Given the description of an element on the screen output the (x, y) to click on. 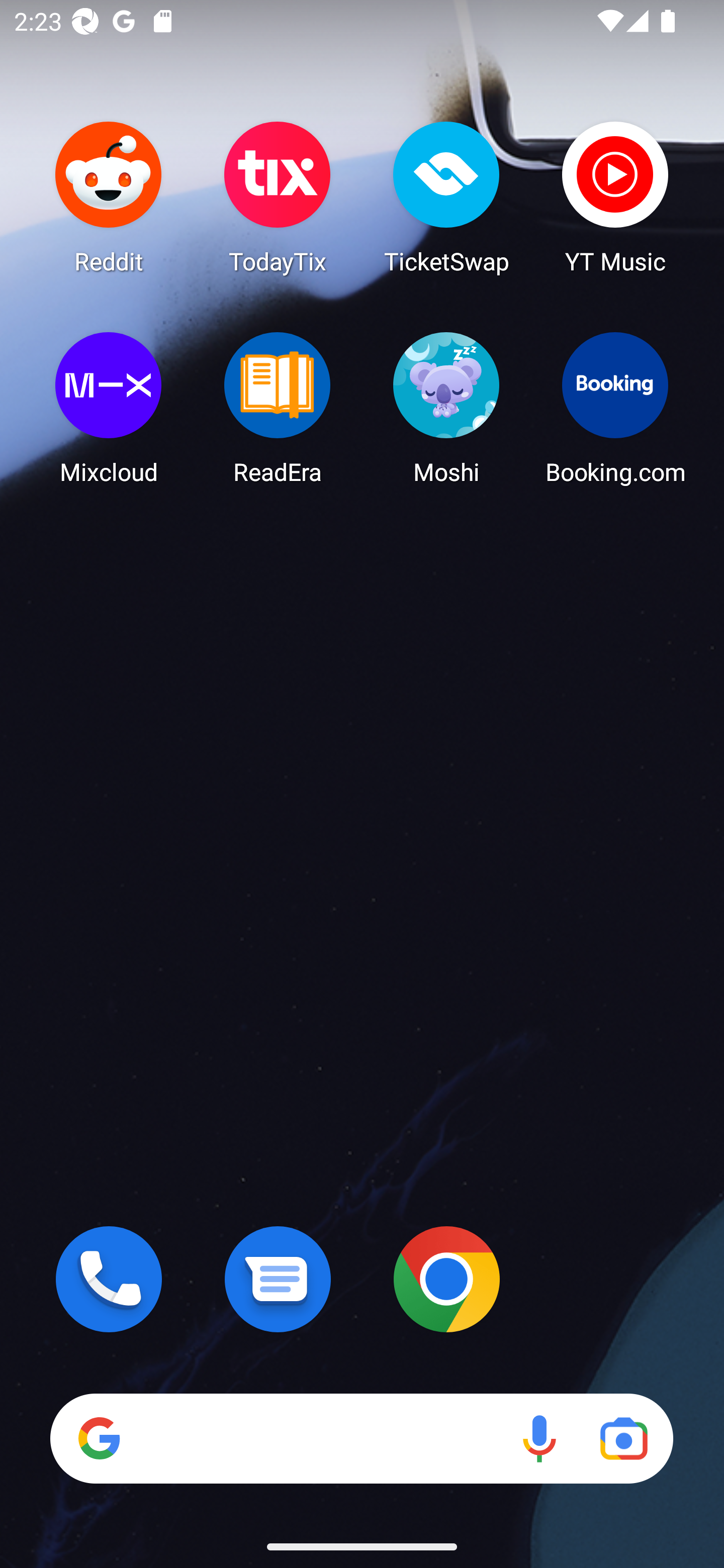
Reddit (108, 196)
TodayTix (277, 196)
TicketSwap (445, 196)
YT Music (615, 196)
Mixcloud (108, 407)
ReadEra (277, 407)
Moshi (445, 407)
Booking.com (615, 407)
Phone (108, 1279)
Messages (277, 1279)
Chrome (446, 1279)
Search Voice search Google Lens (361, 1438)
Voice search (539, 1438)
Google Lens (623, 1438)
